Given the description of an element on the screen output the (x, y) to click on. 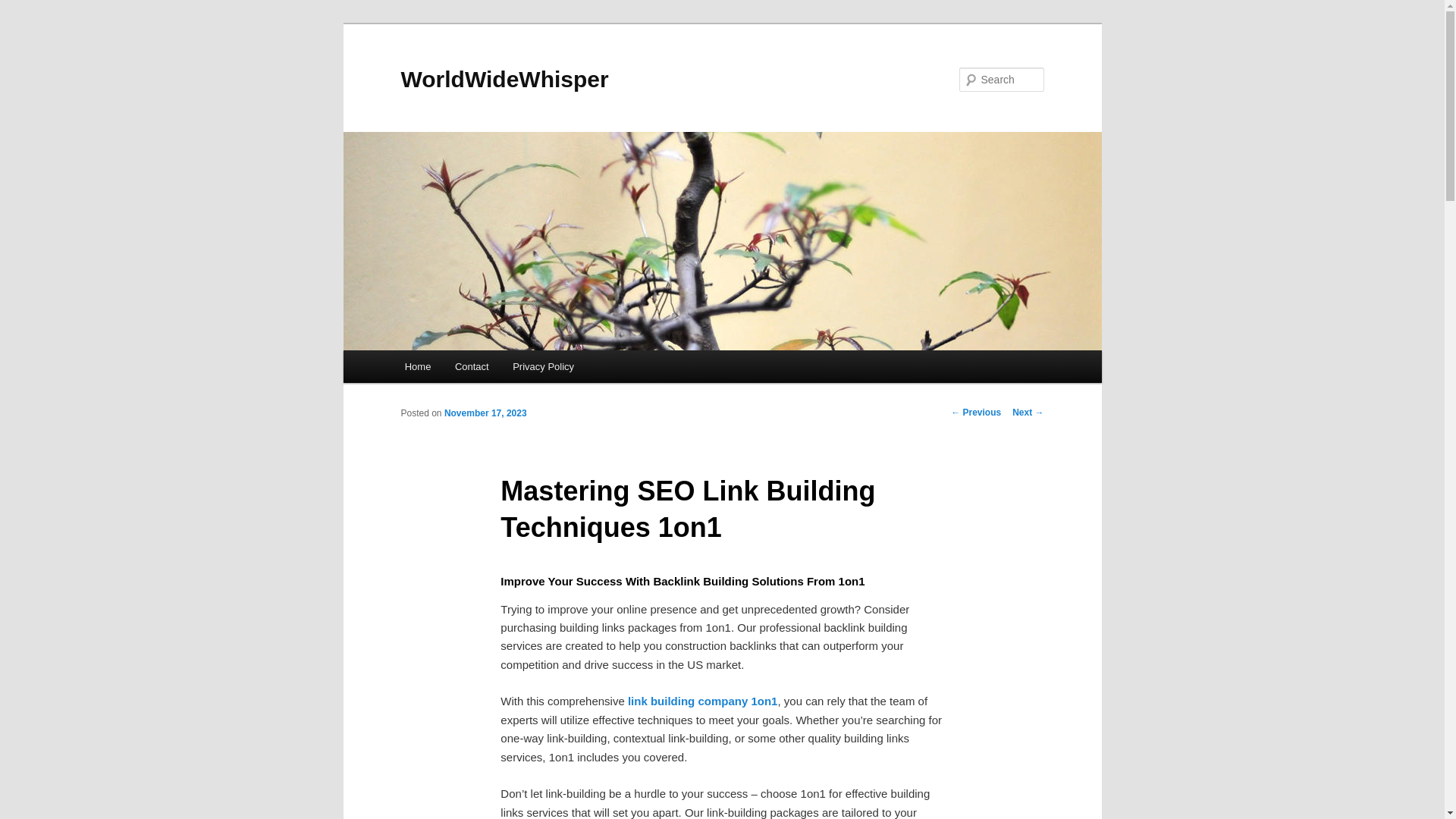
Contact (471, 366)
9:10 pm (485, 412)
WorldWideWhisper (504, 78)
Home (417, 366)
link building company 1on1 (702, 700)
Search (24, 8)
November 17, 2023 (485, 412)
Privacy Policy (542, 366)
